Given the description of an element on the screen output the (x, y) to click on. 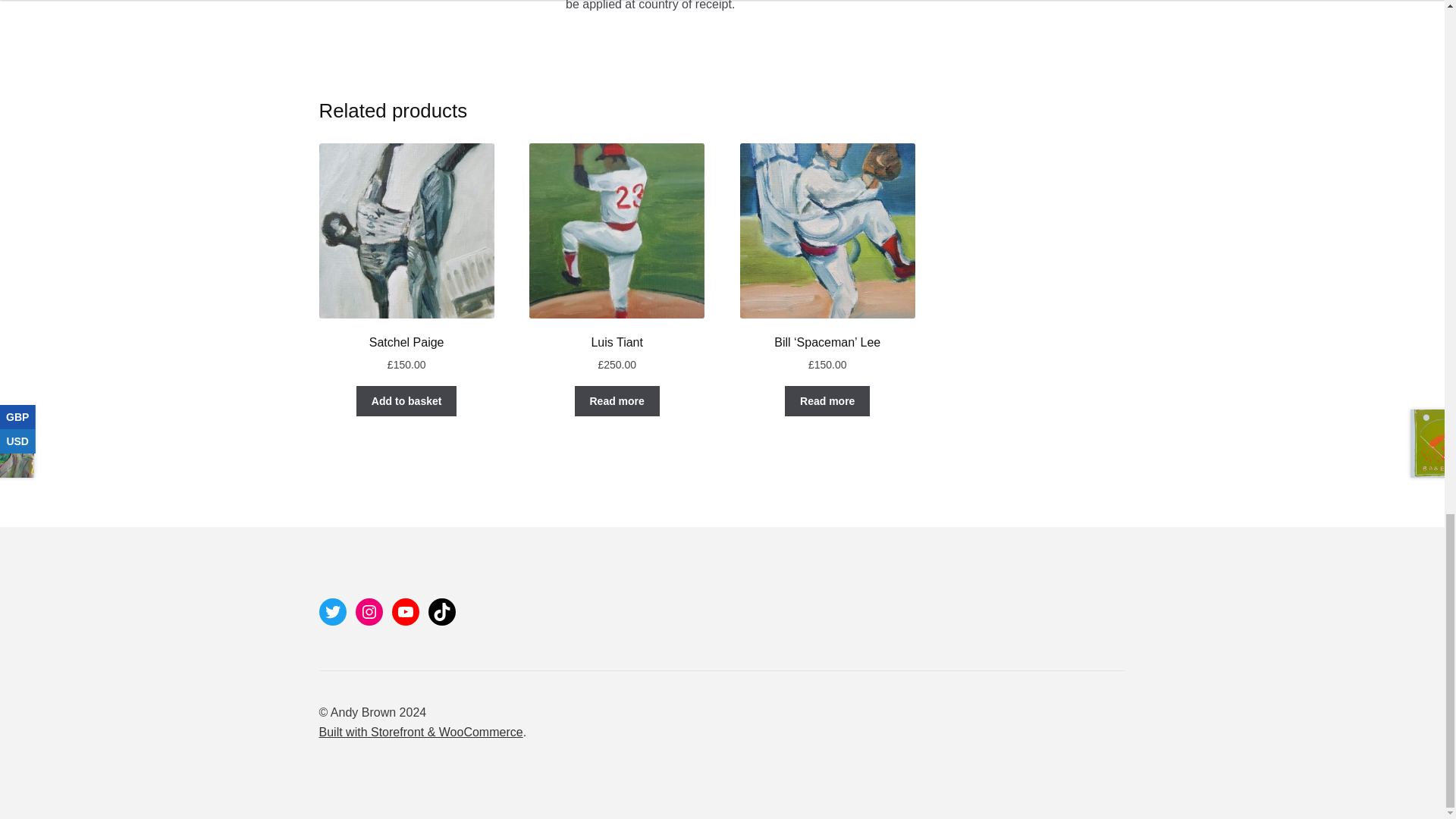
WooCommerce - The Best eCommerce Platform for WordPress (420, 731)
